Given the description of an element on the screen output the (x, y) to click on. 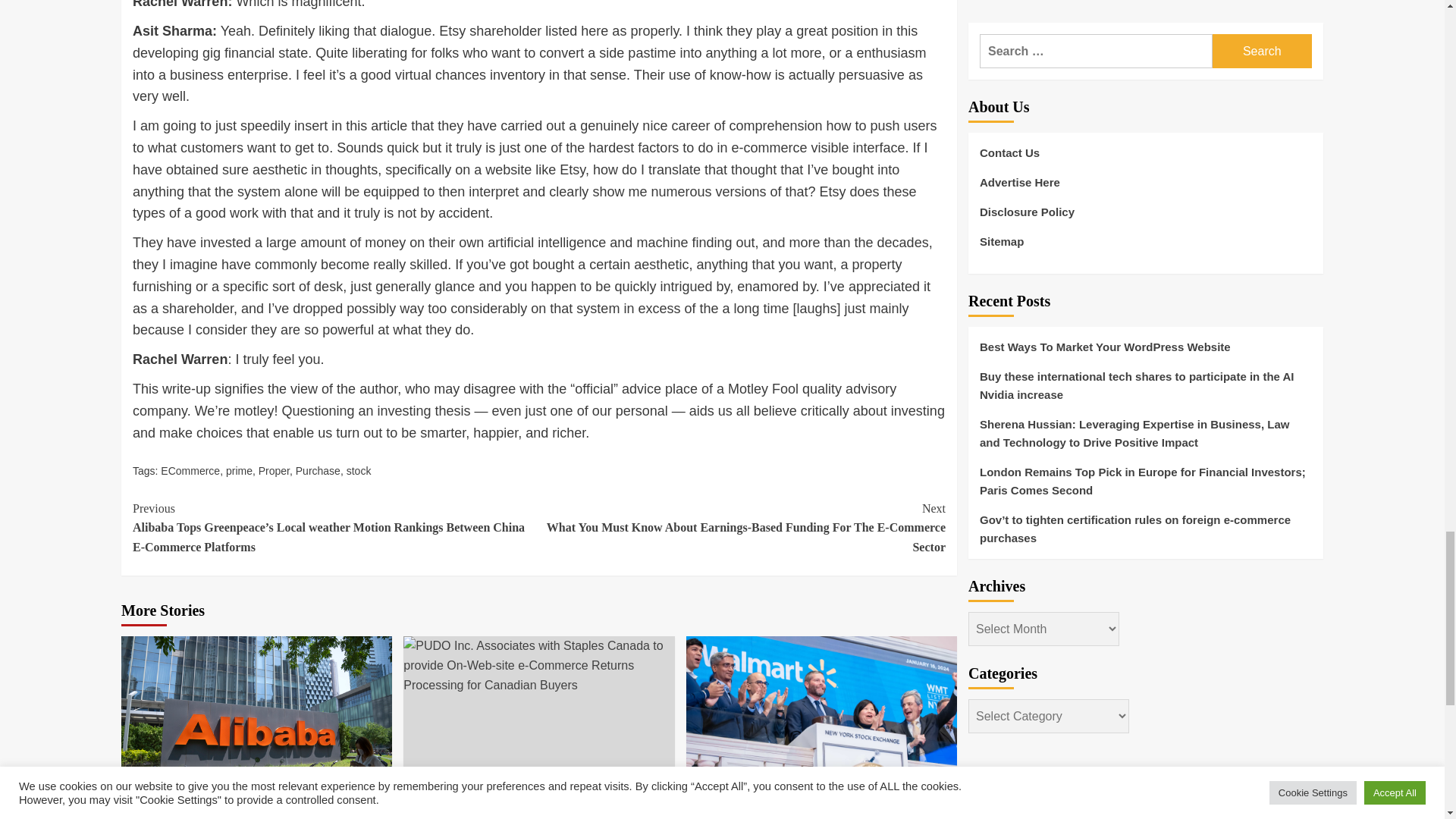
ECommerce (189, 470)
Purchase (317, 470)
E-commerce (441, 784)
prime (238, 470)
Proper (274, 470)
E-commerce (159, 784)
stock (358, 470)
